Given the description of an element on the screen output the (x, y) to click on. 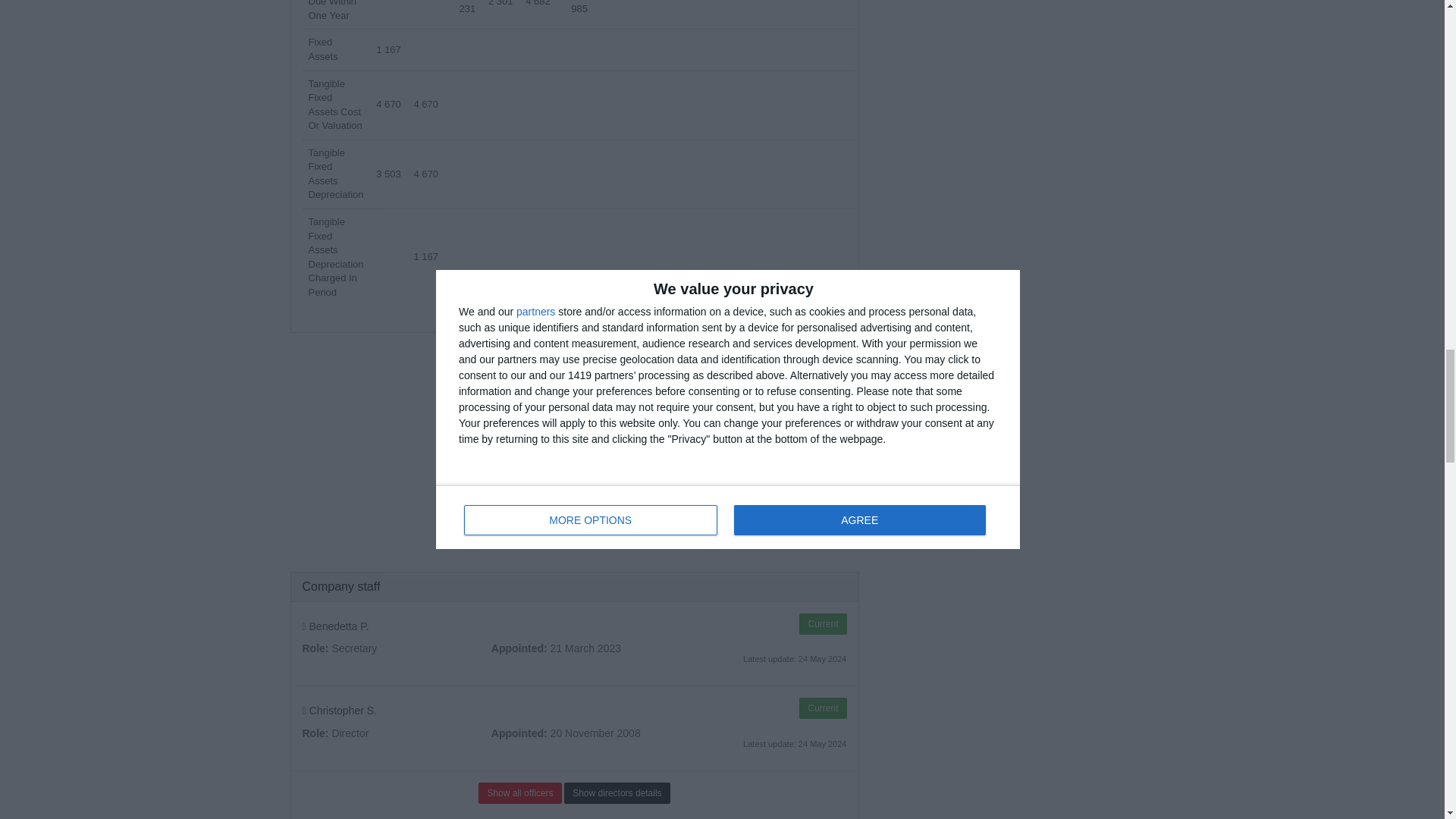
Current (822, 623)
Show all officers (519, 792)
Show directors details (616, 792)
Current (822, 708)
